Given the description of an element on the screen output the (x, y) to click on. 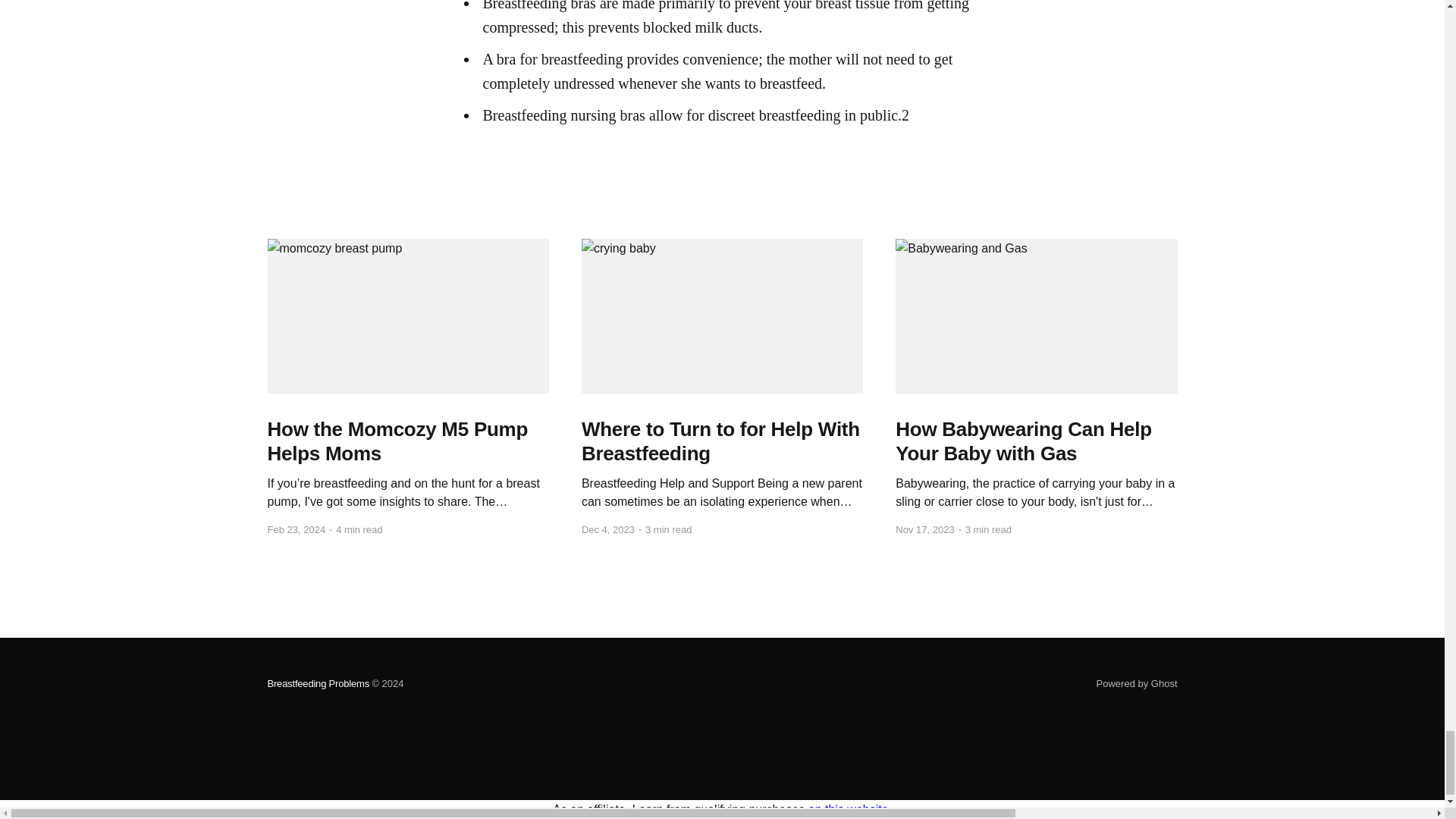
Powered by Ghost (1136, 683)
Breastfeeding Problems (318, 683)
on this website (848, 809)
